Given the description of an element on the screen output the (x, y) to click on. 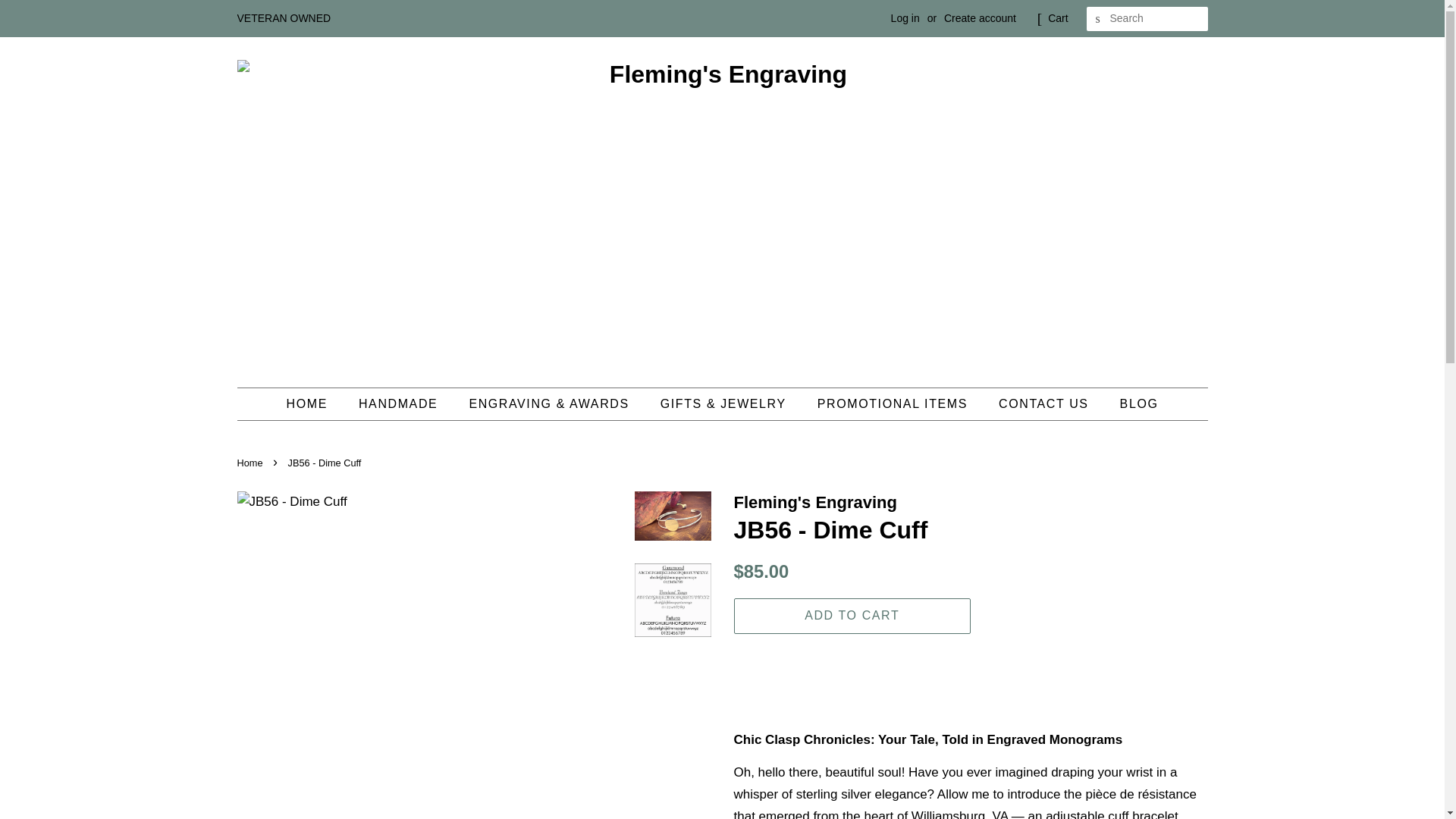
PROMOTIONAL ITEMS (894, 403)
Back to the frontpage (250, 462)
ADD TO CART (852, 615)
Home (250, 462)
CONTACT US (1045, 403)
Cart (1057, 18)
SEARCH (1097, 18)
Log in (905, 18)
HOME (314, 403)
BLOG (1133, 403)
